Given the description of an element on the screen output the (x, y) to click on. 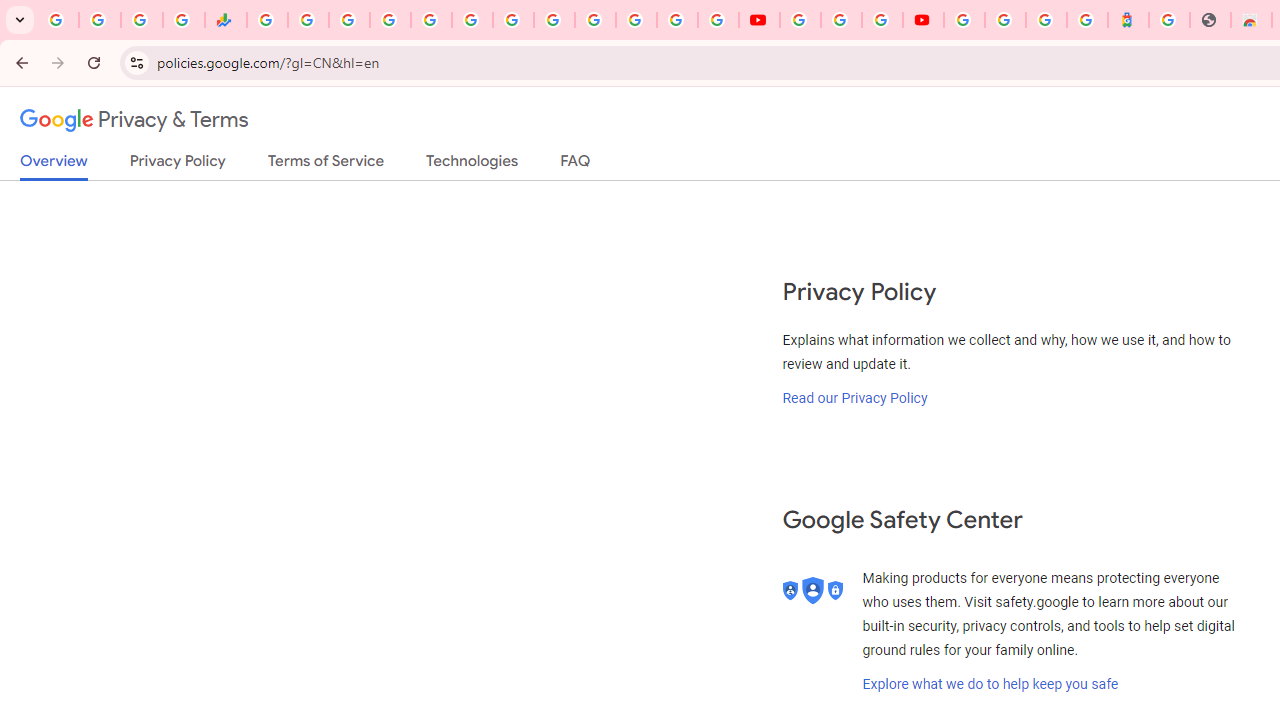
Explore what we do to help keep you safe (989, 683)
Sign in - Google Accounts (594, 20)
Atour Hotel - Google hotels (1128, 20)
Create your Google Account (881, 20)
Sign in - Google Accounts (676, 20)
